Given the description of an element on the screen output the (x, y) to click on. 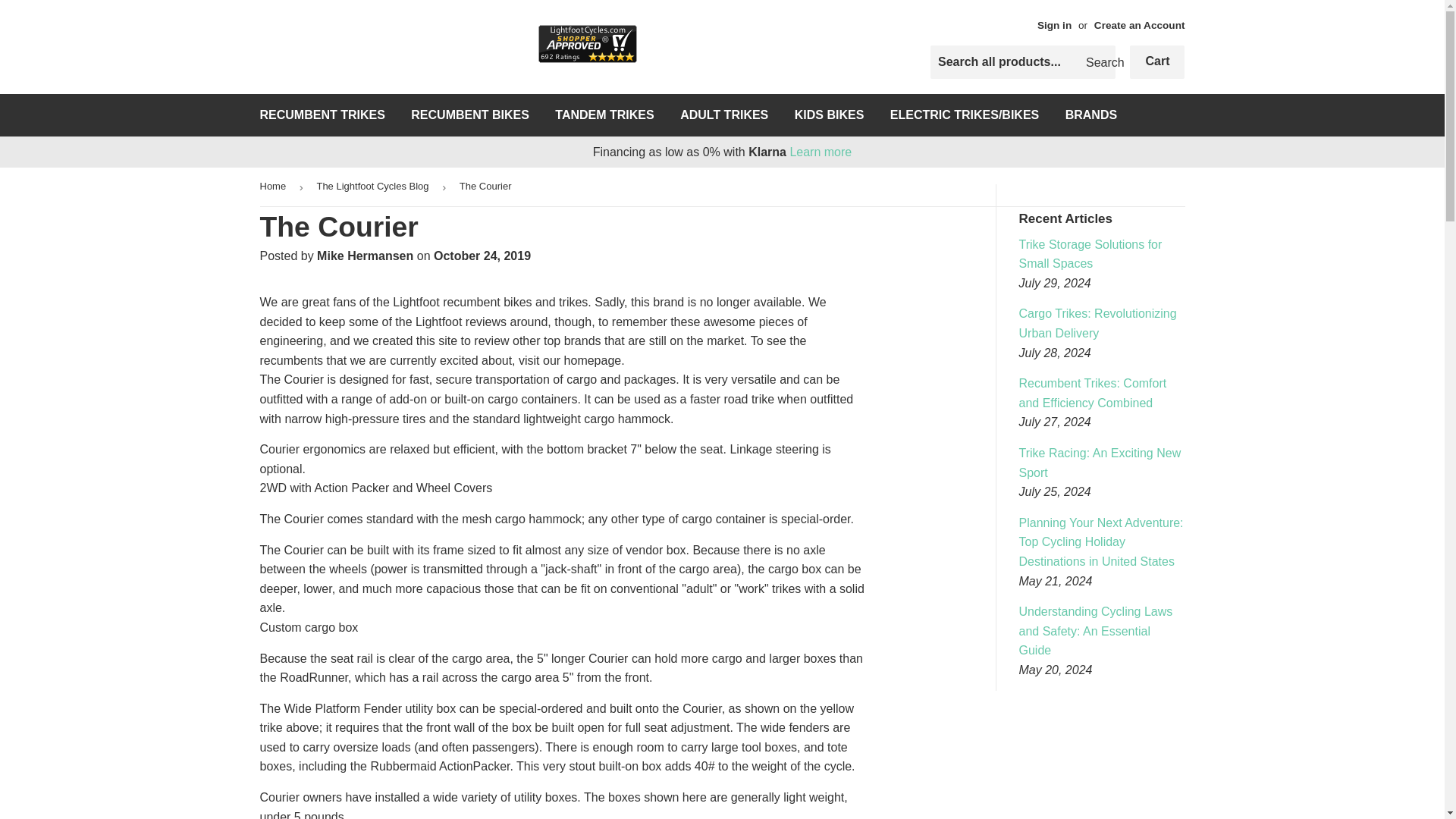
RECUMBENT TRIKES (322, 115)
ADULT TRIKES (723, 115)
Sign in (1053, 25)
TANDEM TRIKES (604, 115)
RECUMBENT BIKES (469, 115)
BRANDS (1091, 115)
KIDS BIKES (829, 115)
Cart (1157, 61)
Search (1098, 62)
Create an Account (1139, 25)
